Given the description of an element on the screen output the (x, y) to click on. 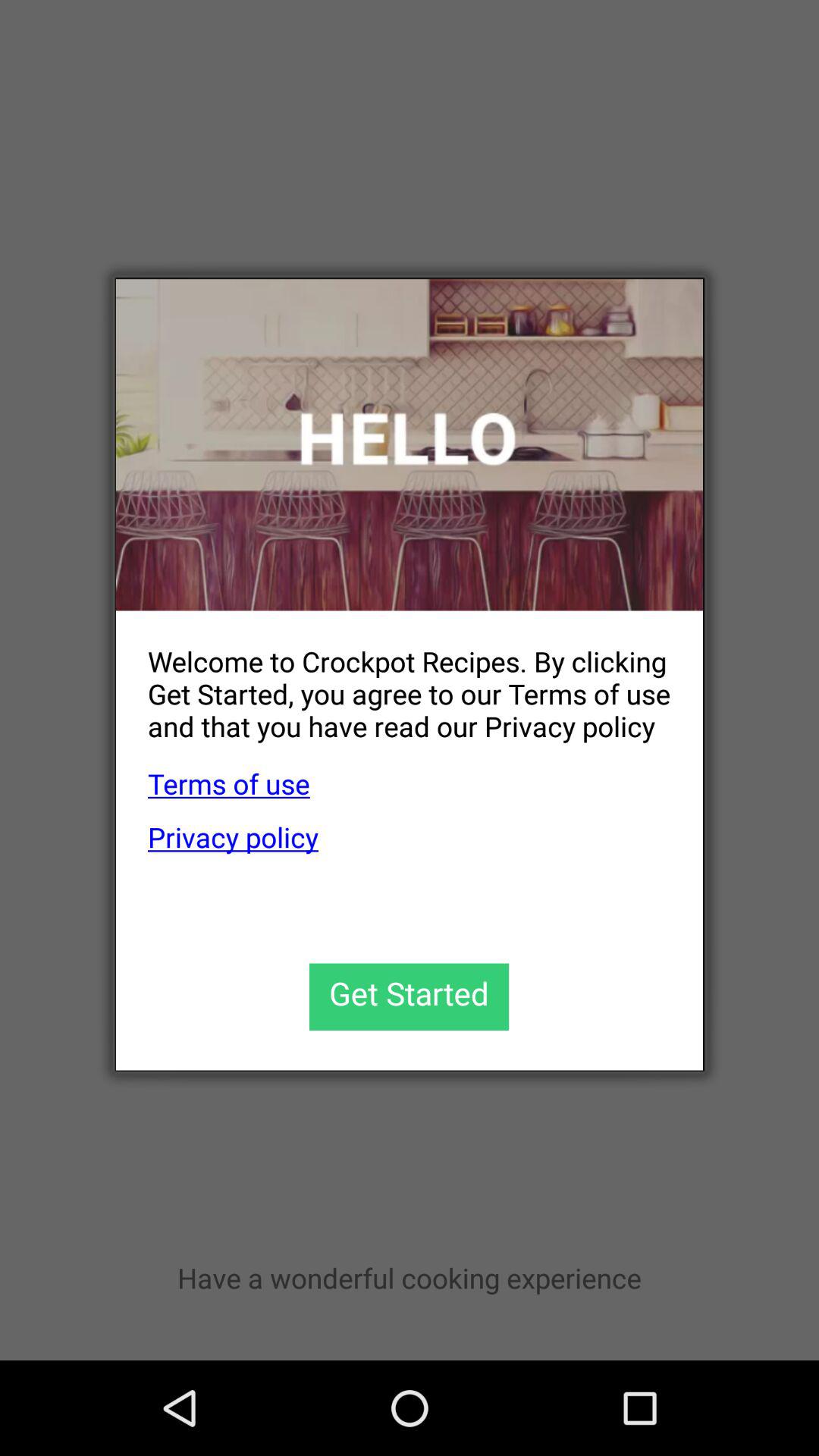
open the welcome to crockpot (393, 681)
